Given the description of an element on the screen output the (x, y) to click on. 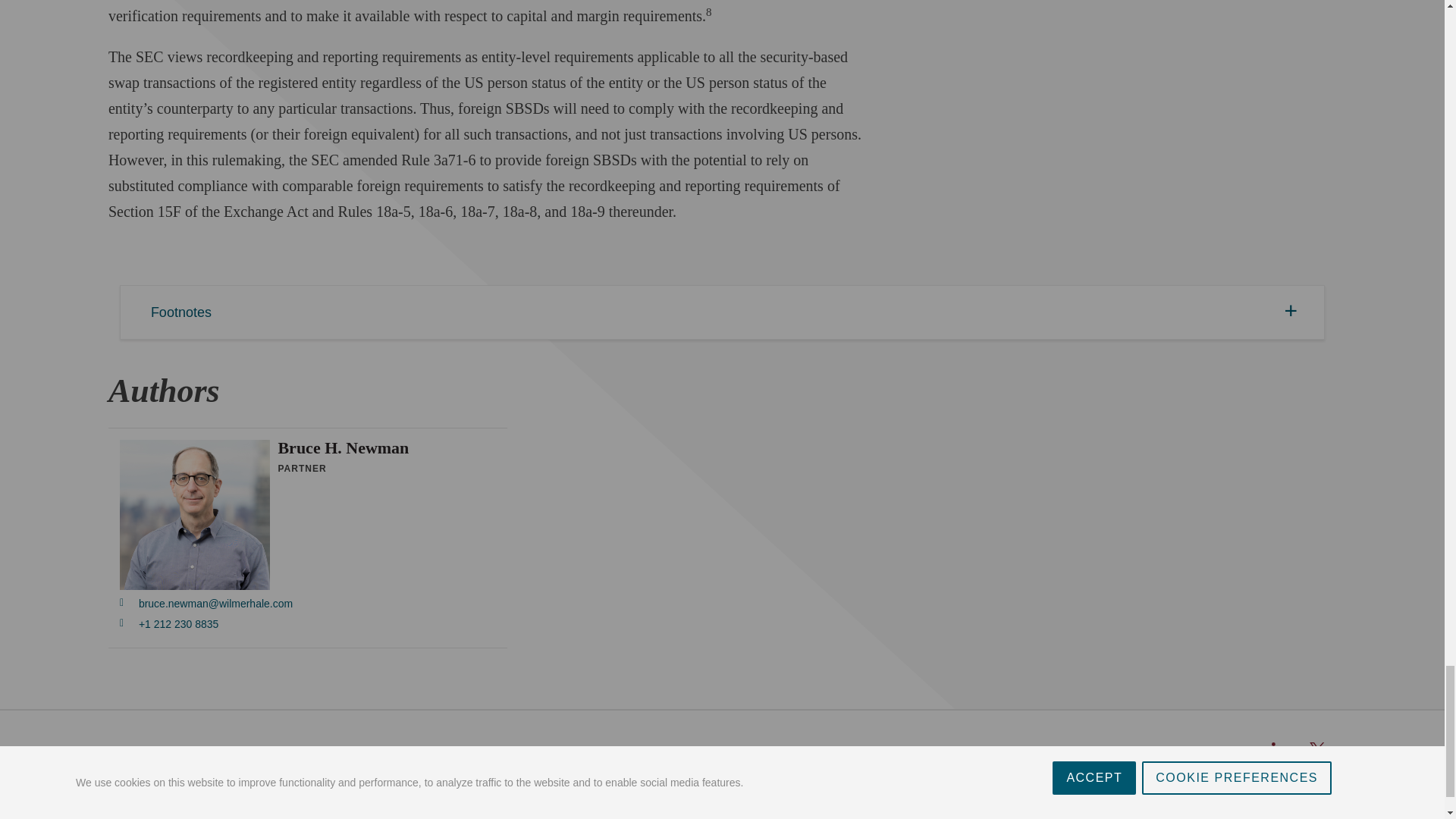
WilmerHale on X (1316, 749)
WilmerHale on LinkedIn (1279, 749)
